Given the description of an element on the screen output the (x, y) to click on. 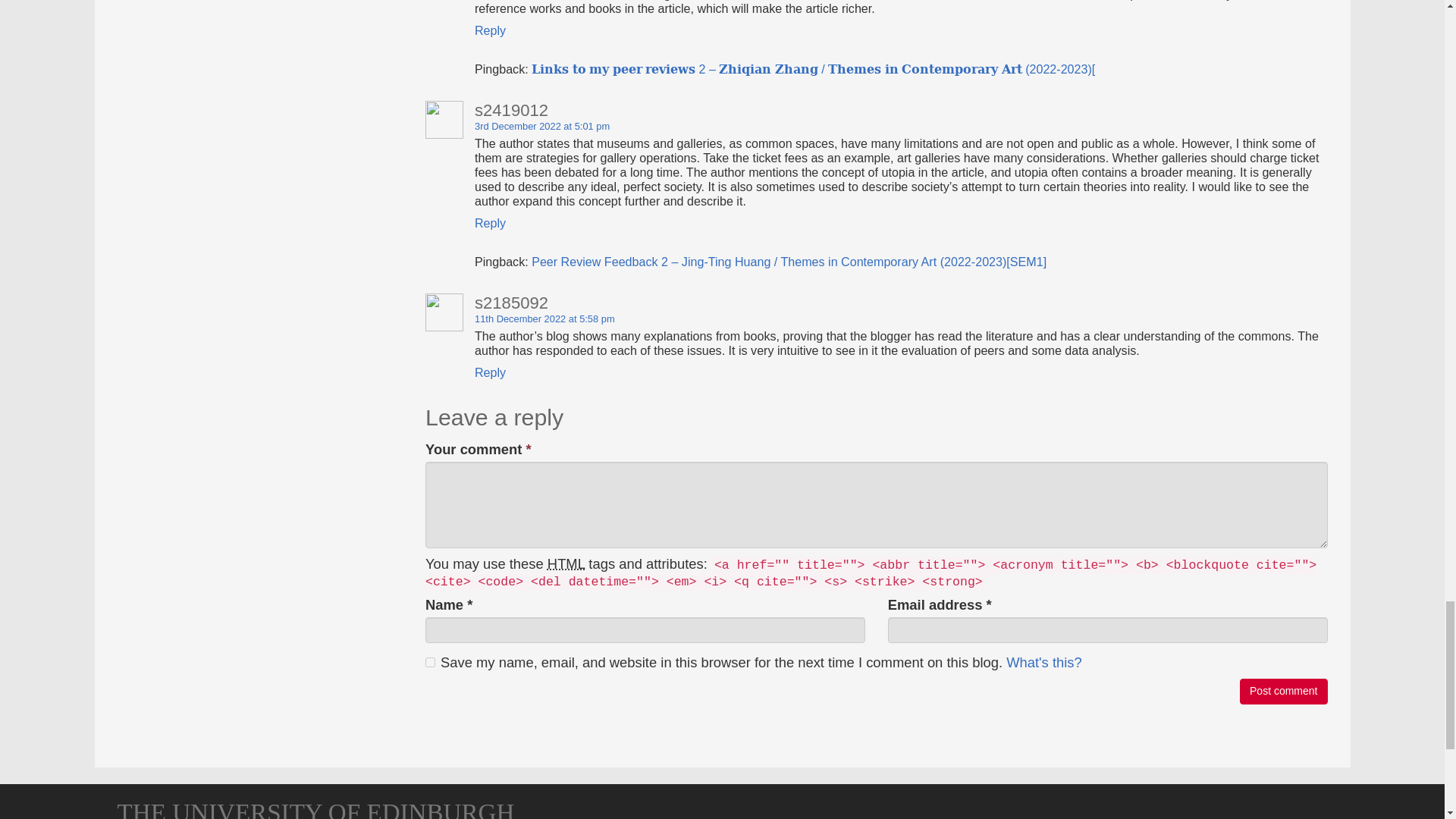
HyperText Markup Language (566, 563)
Post comment (1283, 691)
yes (430, 662)
